Given the description of an element on the screen output the (x, y) to click on. 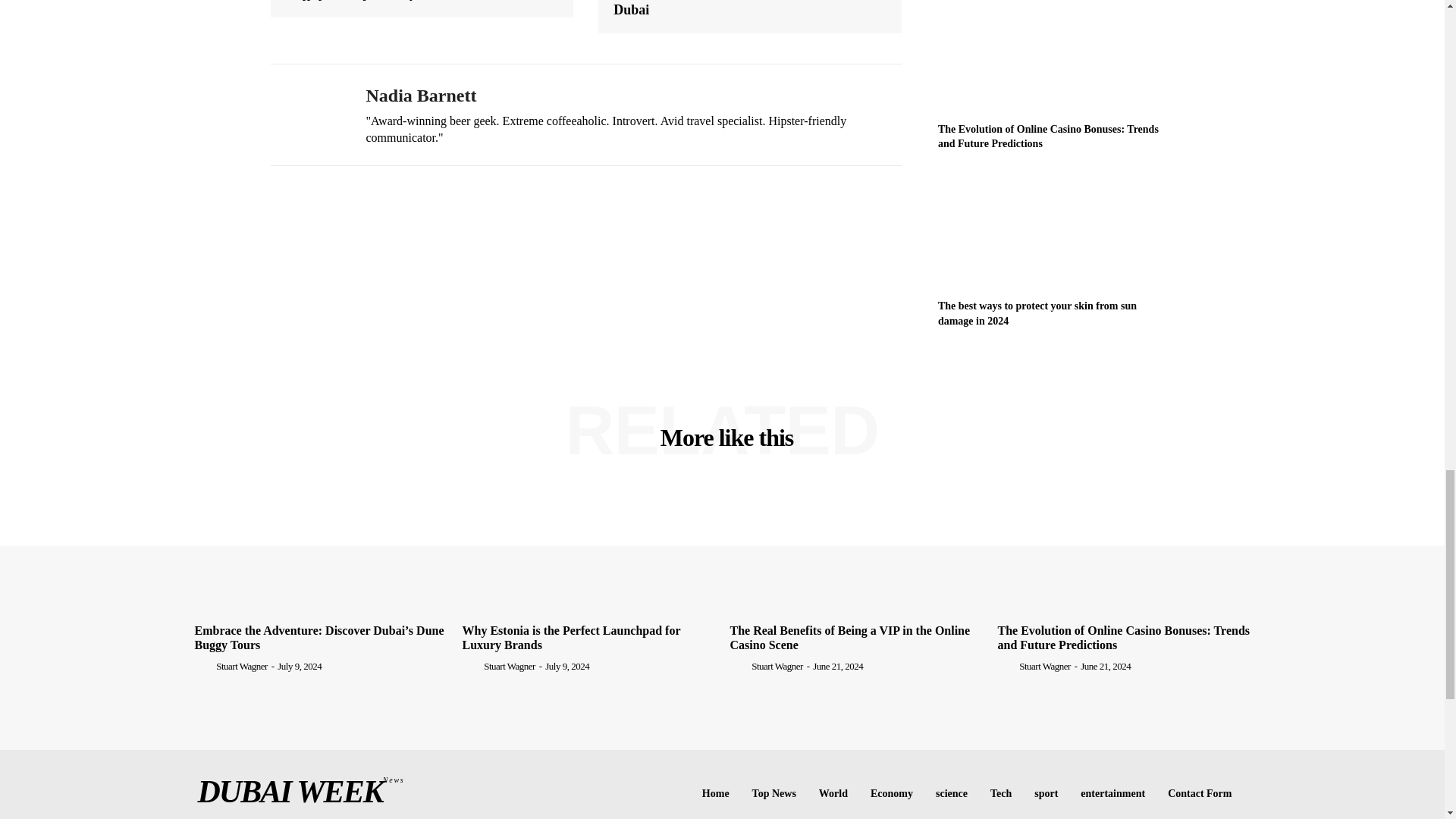
Nadia Barnett (305, 114)
The best ways to protect your skin from sun damage in 2024 (1055, 230)
